Given the description of an element on the screen output the (x, y) to click on. 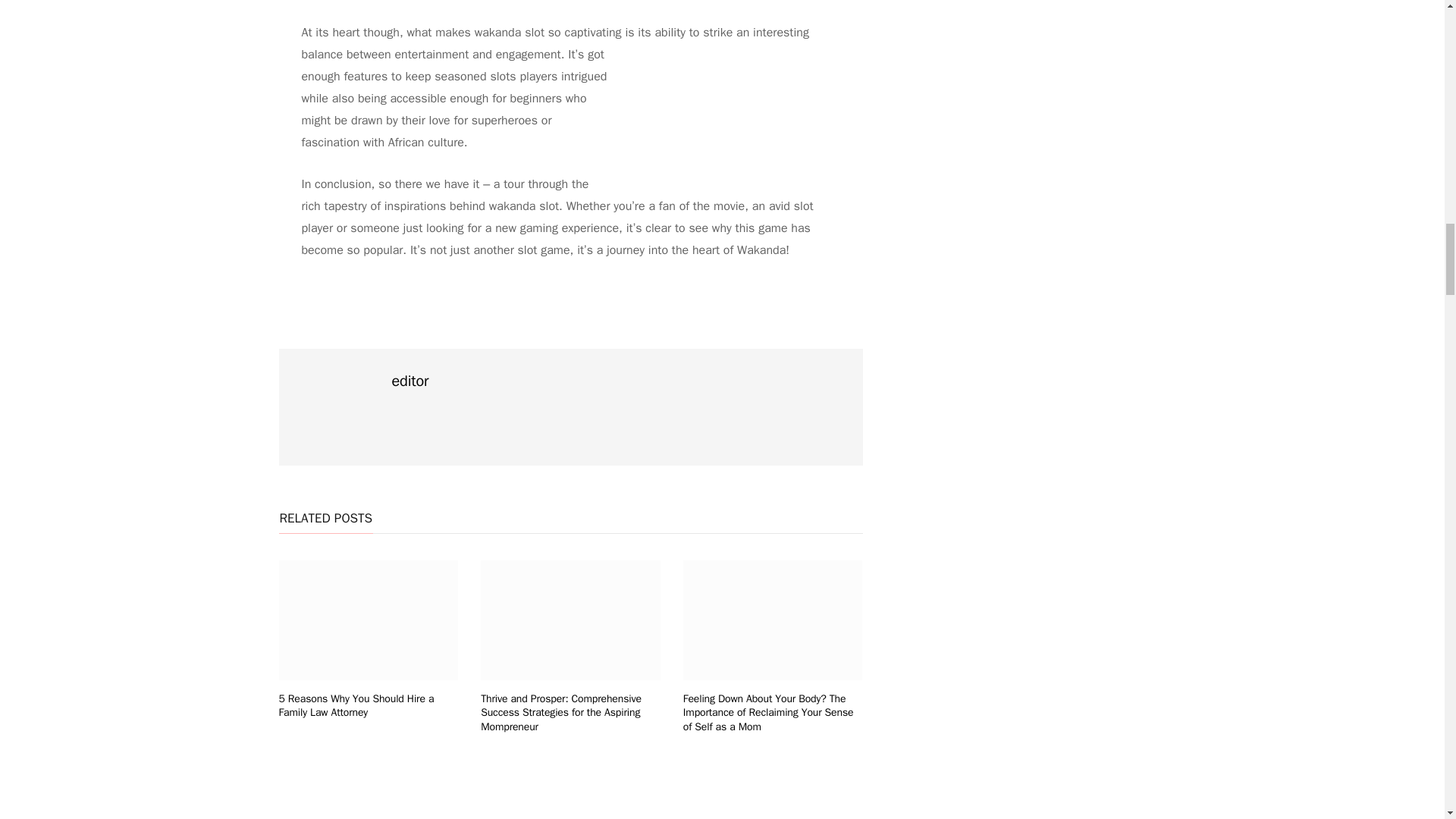
editor (409, 381)
5 Reasons Why You Should Hire a Family Law Attorney (356, 705)
Posts by editor (409, 381)
